Given the description of an element on the screen output the (x, y) to click on. 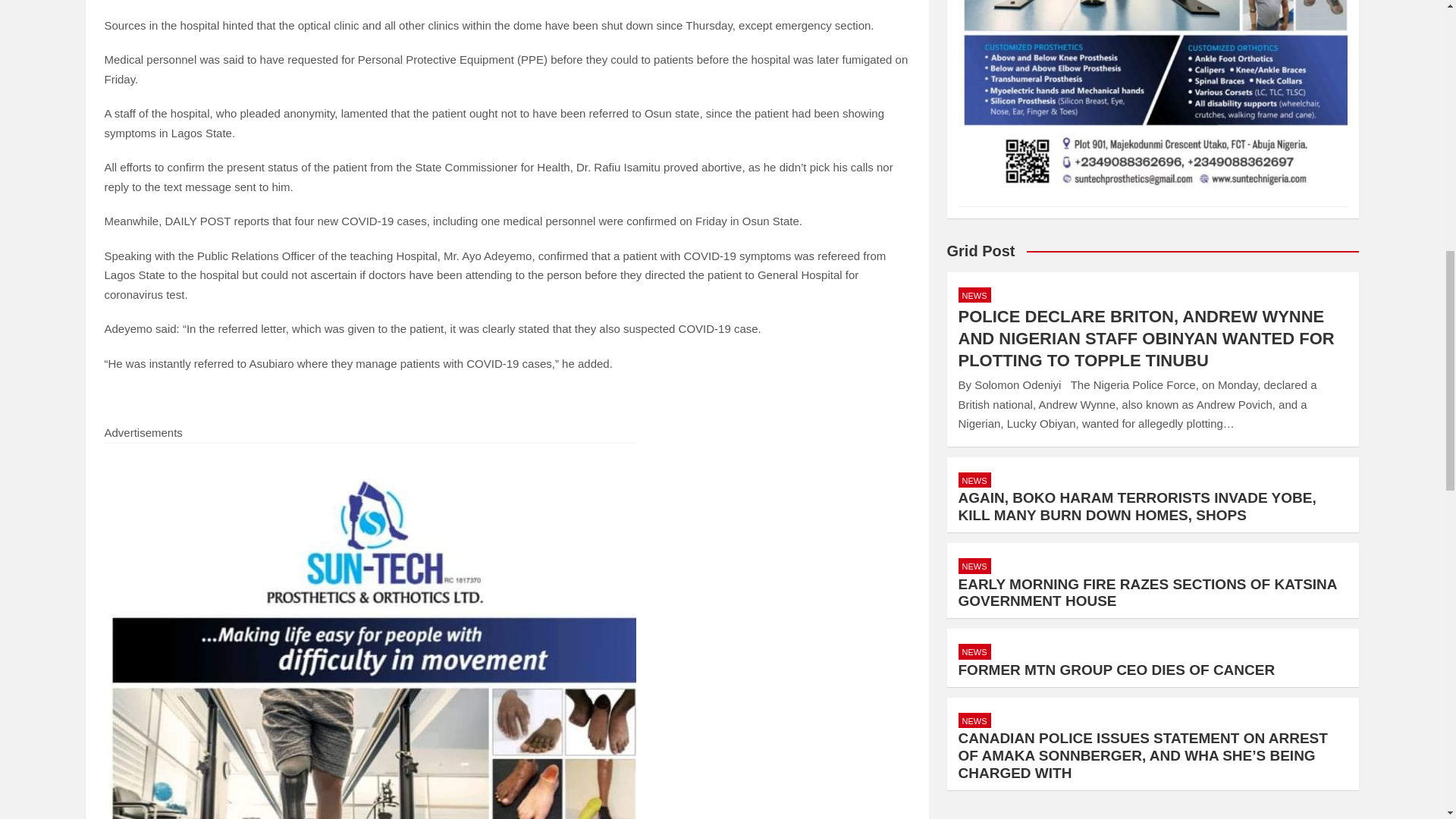
NEWS (974, 565)
NEWS (974, 295)
NEWS (974, 651)
NEWS (974, 720)
NEWS (974, 480)
Sun-Tech (1153, 103)
FORMER MTN GROUP CEO DIES OF CANCER (1116, 669)
